Given the description of an element on the screen output the (x, y) to click on. 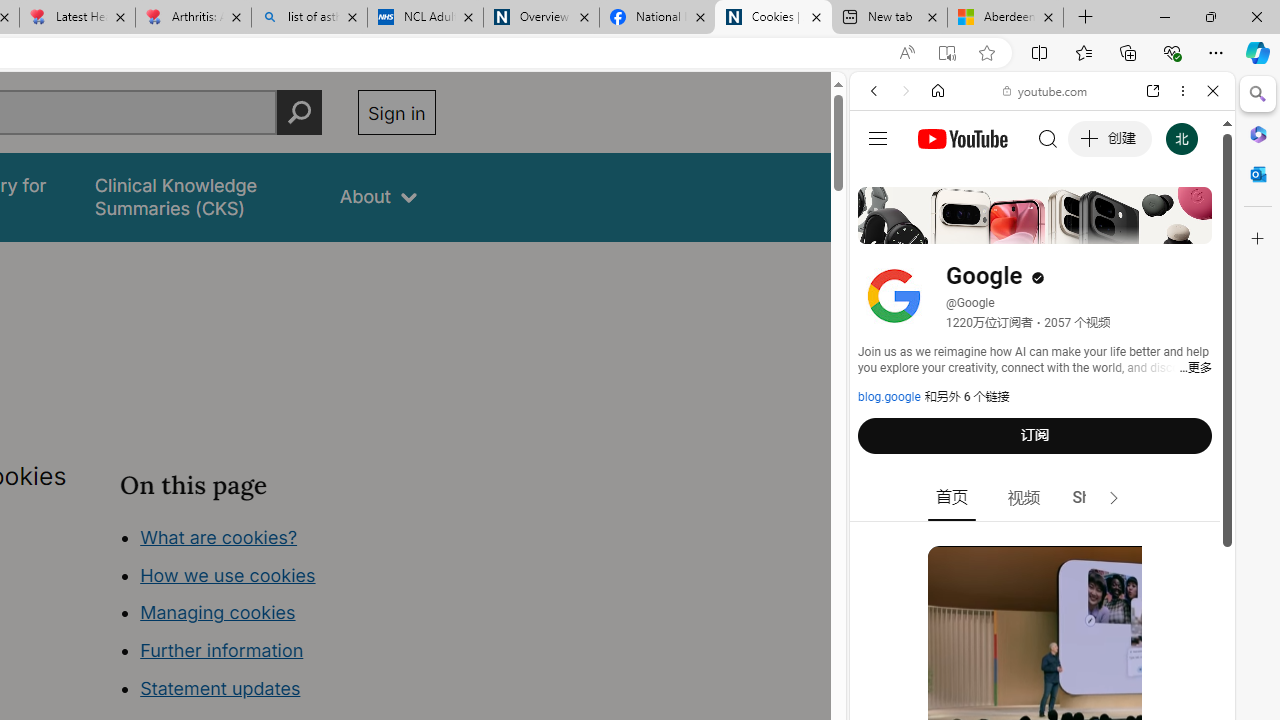
Google (1042, 494)
Trailer #2 [HD] (1042, 592)
Class: in-page-nav__list (277, 615)
Search Filter, VIDEOS (1006, 228)
youtube.com (1046, 90)
